Given the description of an element on the screen output the (x, y) to click on. 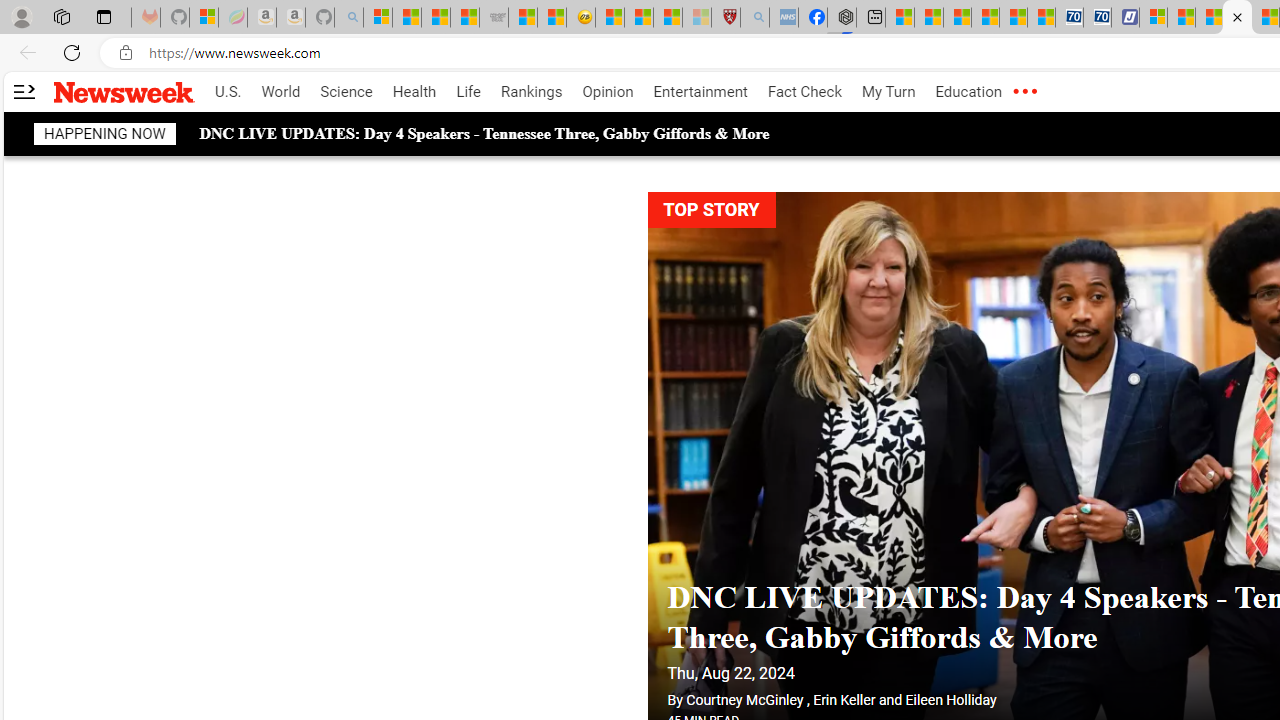
World (280, 92)
Erin Keller (843, 700)
Eileen Holliday (950, 700)
Microsoft-Report a Concern to Bing (203, 17)
Science (345, 92)
Rankings (532, 92)
Science - MSN (668, 17)
Newsweek - News, Analysis, Politics, Business, Technology (1236, 17)
